Given the description of an element on the screen output the (x, y) to click on. 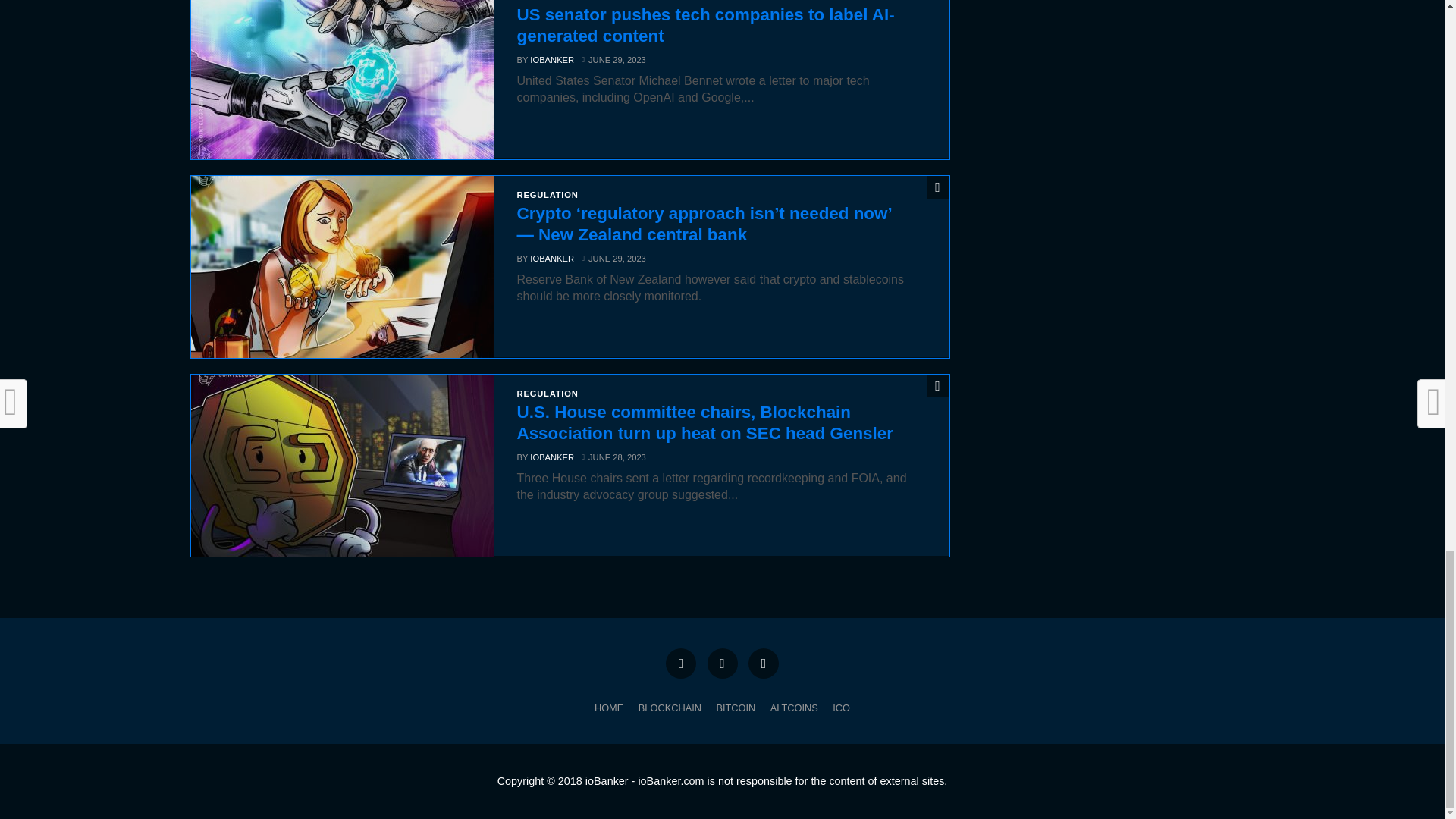
Posts by ioBanker (551, 59)
